Given the description of an element on the screen output the (x, y) to click on. 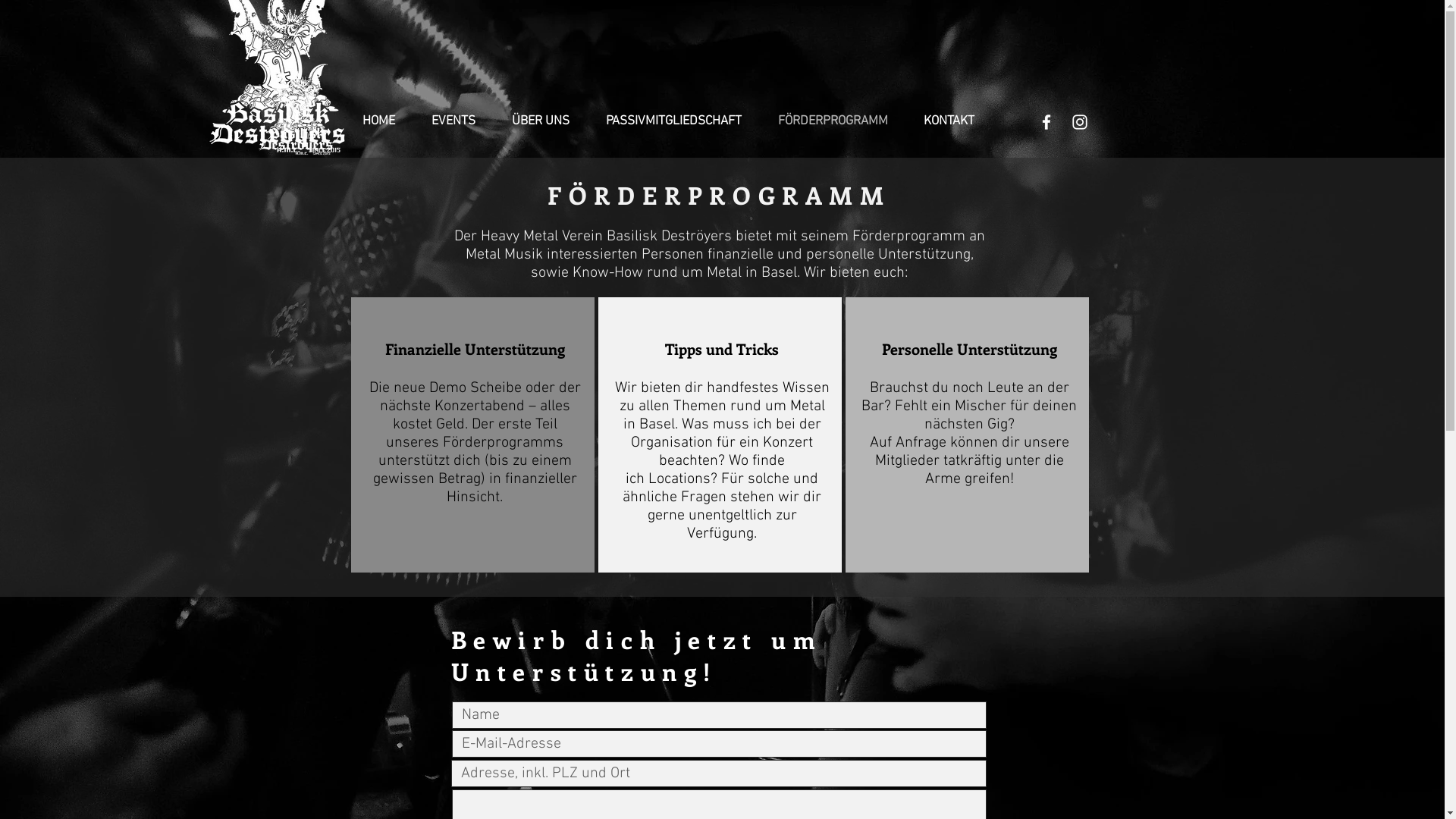
PASSIVMITGLIEDSCHAFT Element type: text (680, 121)
EVENTS Element type: text (460, 121)
HOME Element type: text (384, 121)
KONTAKT Element type: text (954, 121)
